Given the description of an element on the screen output the (x, y) to click on. 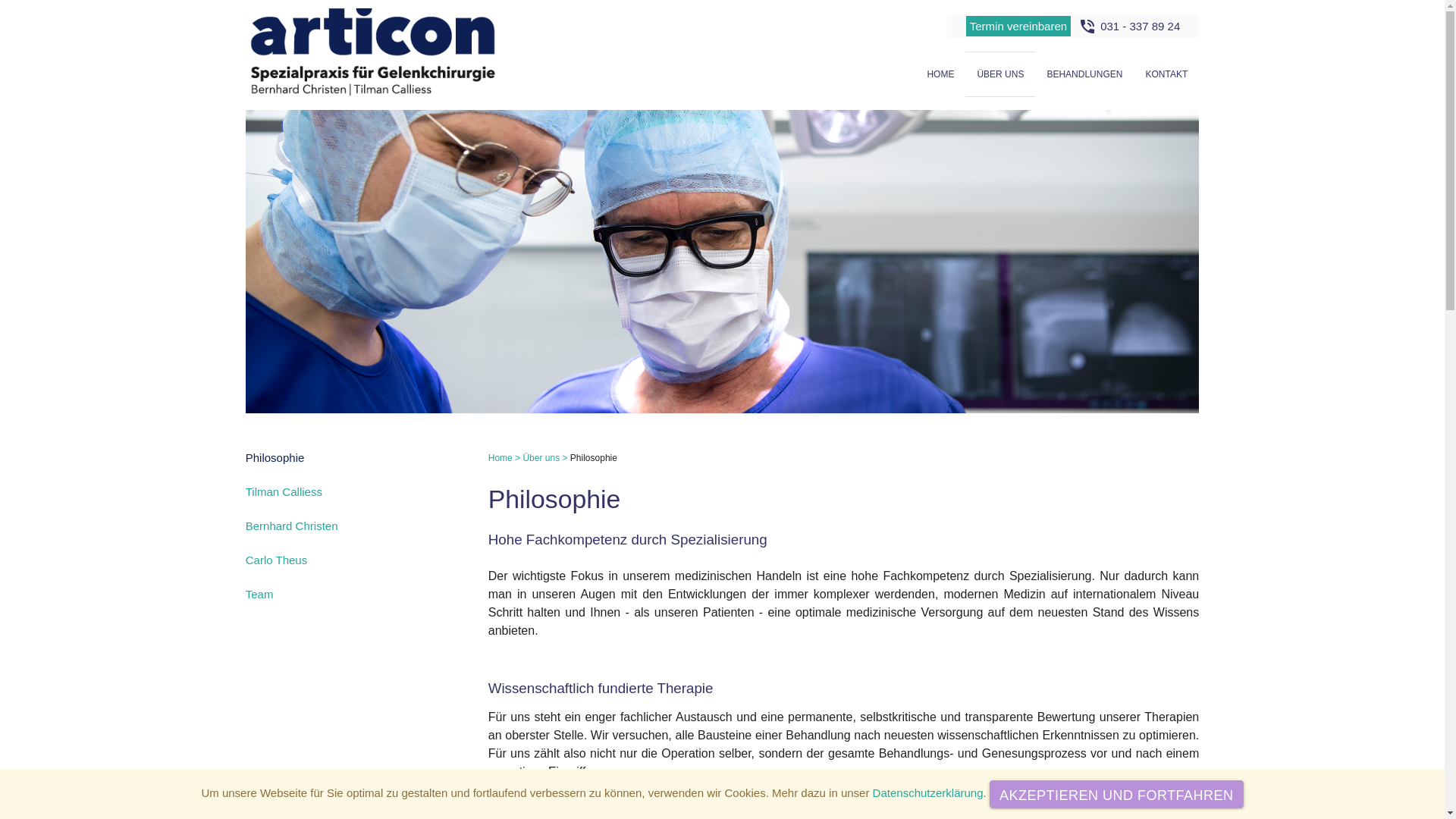
KONTAKT Element type: text (1165, 74)
Team Element type: text (259, 593)
AKZEPTIEREN UND FORTFAHREN Element type: text (1116, 793)
Termin vereinbaren Element type: text (1018, 25)
031 - 337 89 24 Element type: text (1139, 25)
Carlo Theus Element type: text (276, 559)
Bernhard Christen Element type: text (291, 525)
Tilman Calliess Element type: text (283, 491)
BEHANDLUNGEN Element type: text (1084, 74)
Home Element type: text (500, 457)
HOME Element type: text (940, 74)
Philosophie Element type: text (274, 457)
